Given the description of an element on the screen output the (x, y) to click on. 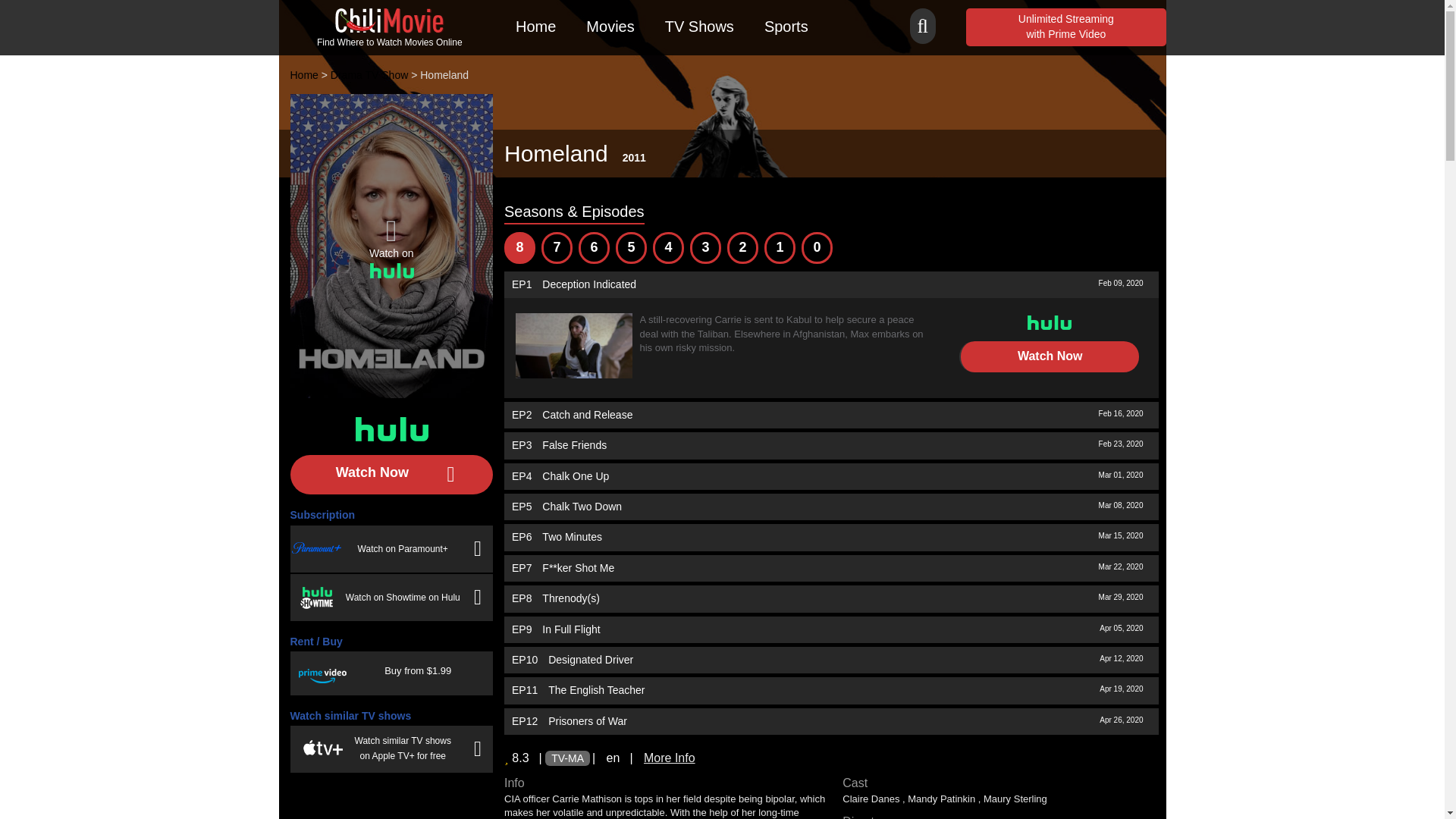
Find Where to Watch Movies Online (389, 27)
TV Shows (699, 27)
